Given the description of an element on the screen output the (x, y) to click on. 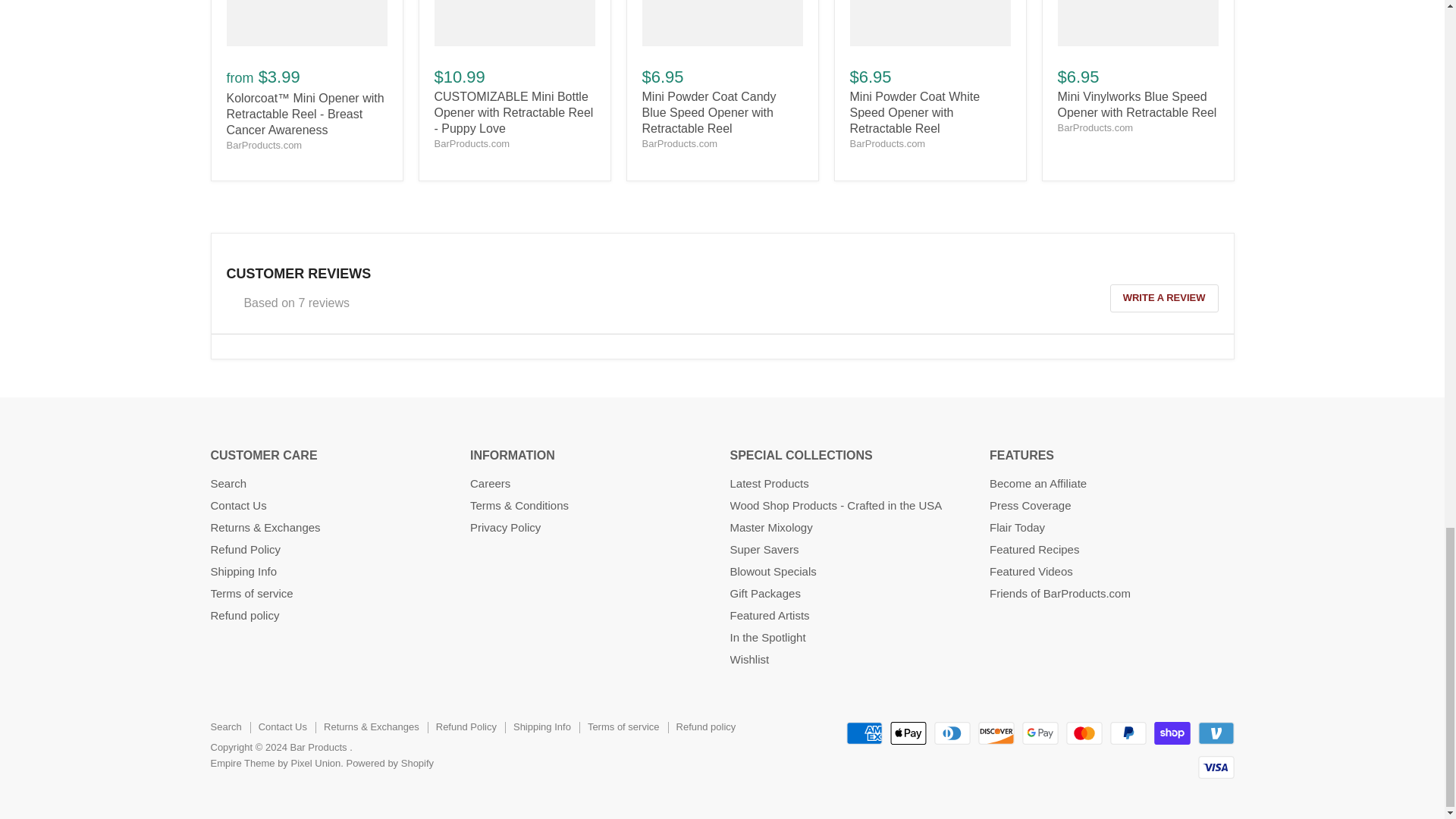
American Express (863, 732)
